Given the description of an element on the screen output the (x, y) to click on. 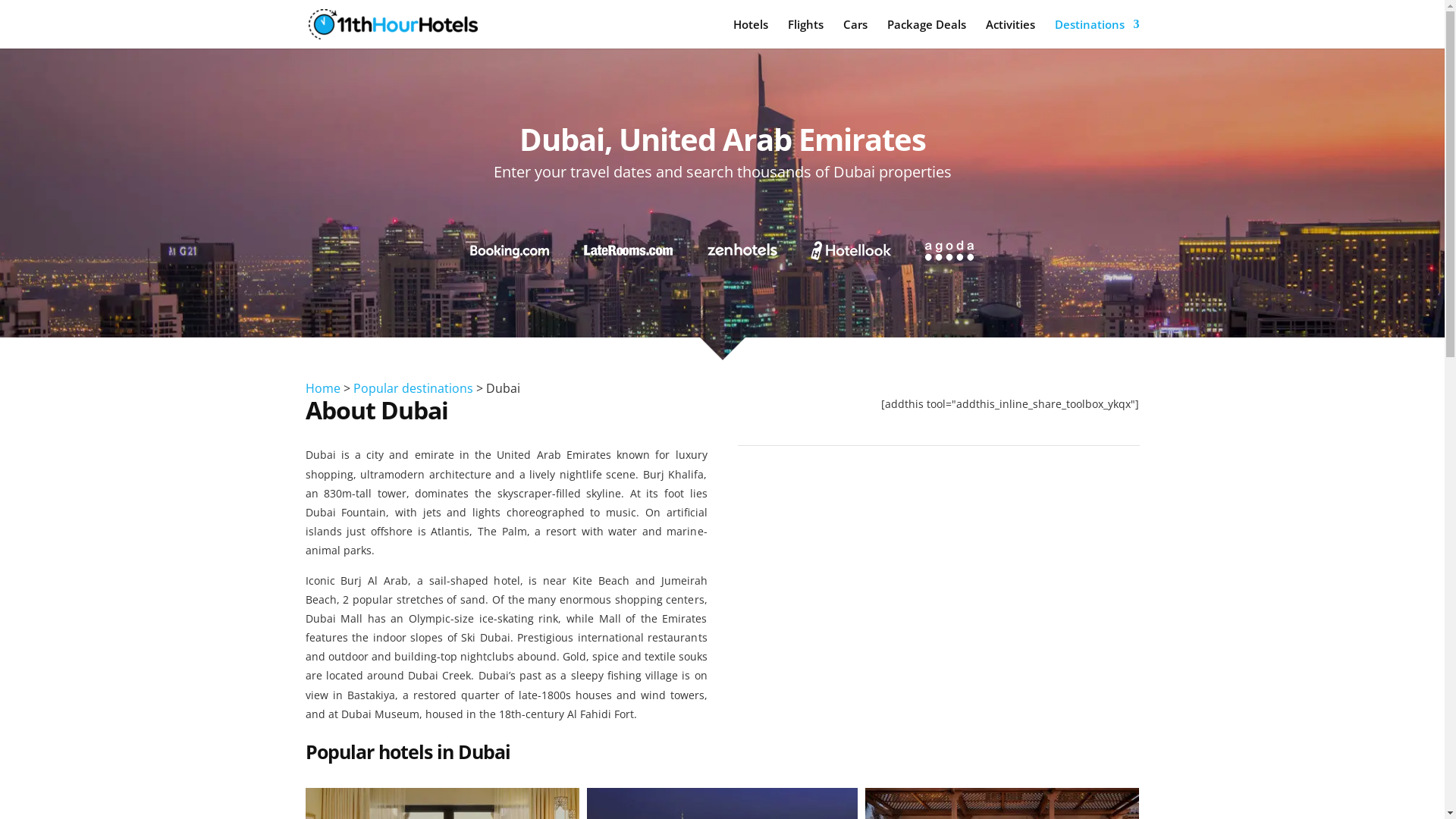
Cars Element type: text (855, 33)
Hotels Element type: text (749, 33)
Home Element type: text (321, 387)
Package Deals Element type: text (926, 33)
Destinations Element type: text (1096, 33)
Popular destinations Element type: text (413, 387)
Activities Element type: text (1010, 33)
Flights Element type: text (804, 33)
